Given the description of an element on the screen output the (x, y) to click on. 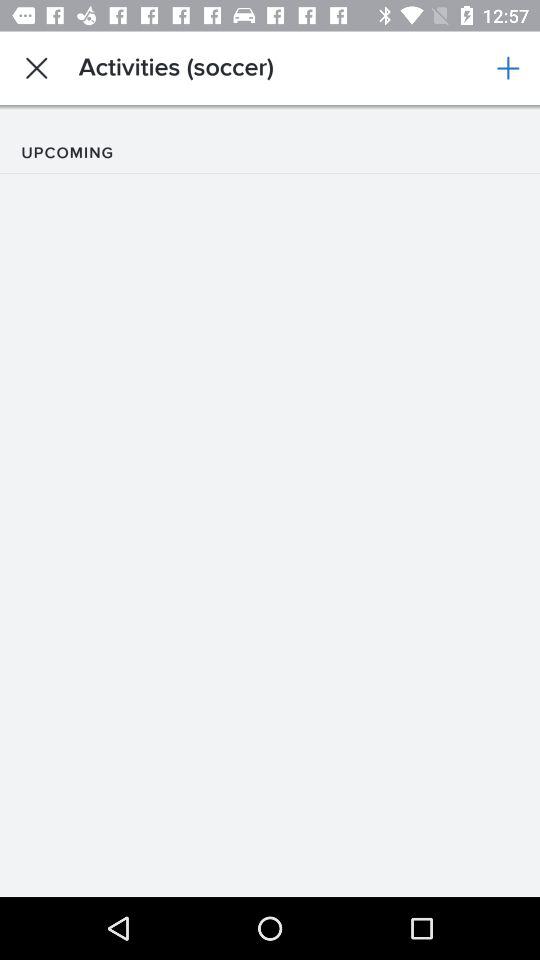
tap app next to the activities (soccer) (508, 67)
